Given the description of an element on the screen output the (x, y) to click on. 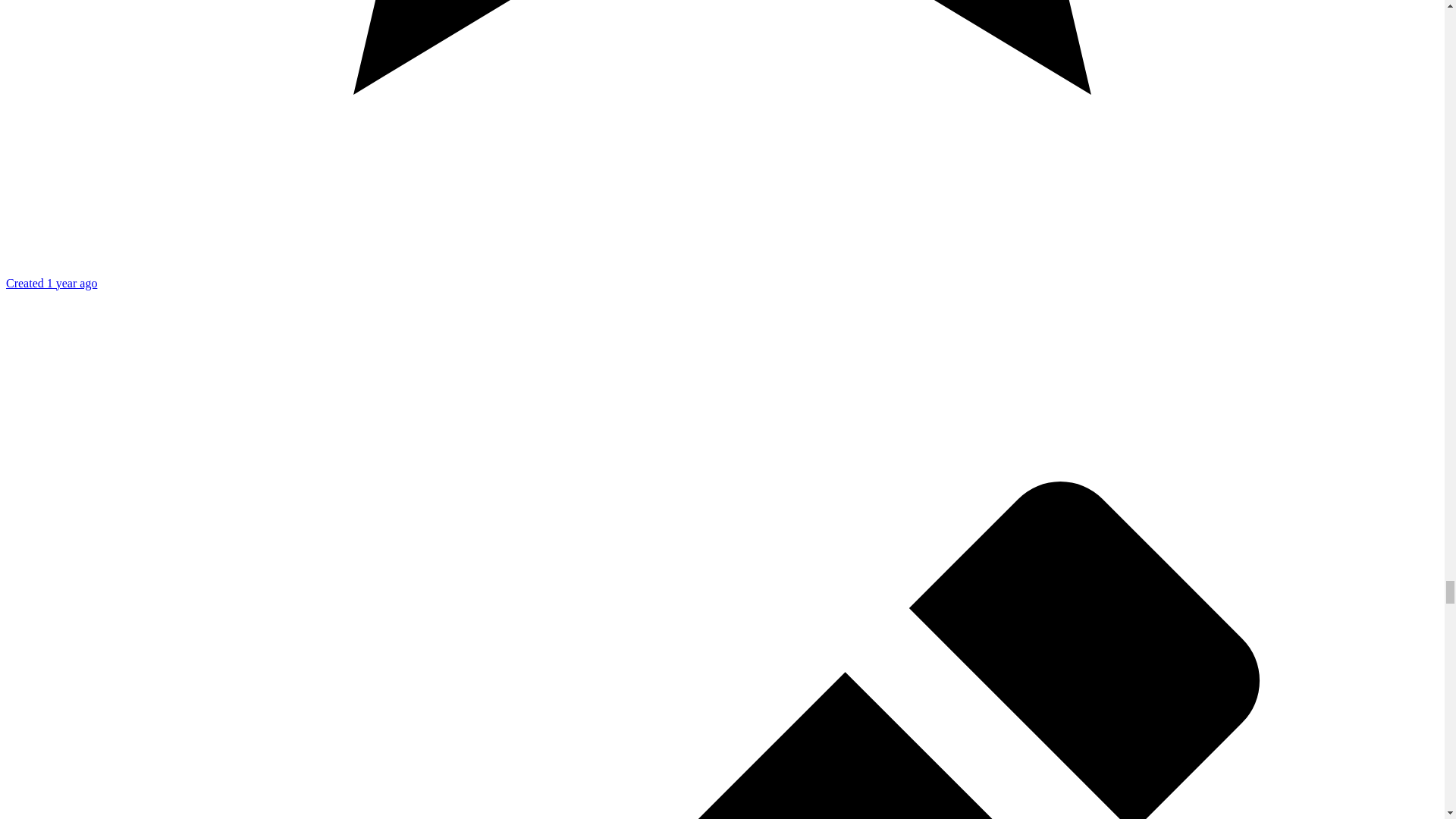
Thu, Apr 20, 2023 2:53 AM (51, 282)
